Given the description of an element on the screen output the (x, y) to click on. 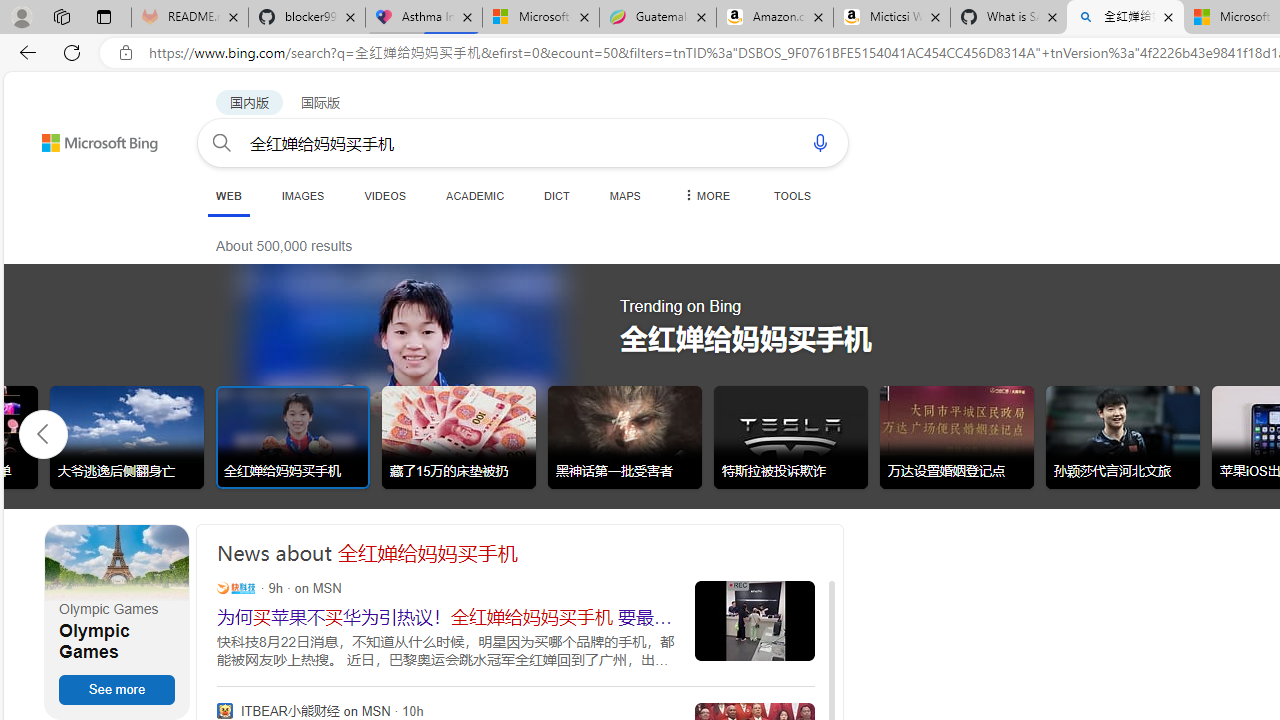
TOOLS (792, 195)
TOOLS (792, 195)
Click to scroll left (43, 432)
MAPS (624, 195)
